Given the description of an element on the screen output the (x, y) to click on. 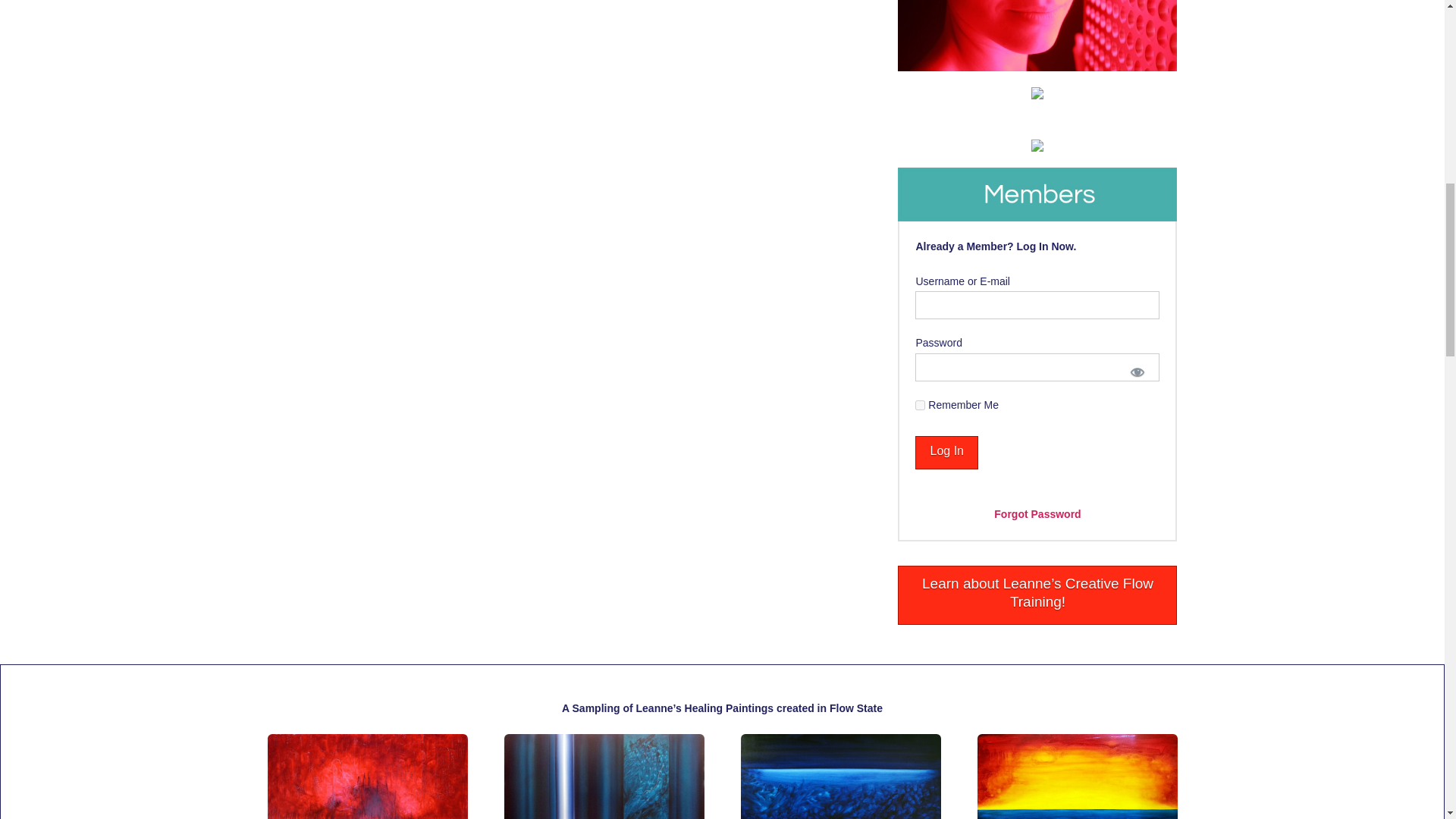
Log In (945, 452)
Log In (945, 452)
Forgot Password (1037, 513)
Learn about Leanne's Creative Flow Training Programs (1037, 594)
forever (919, 405)
